Given the description of an element on the screen output the (x, y) to click on. 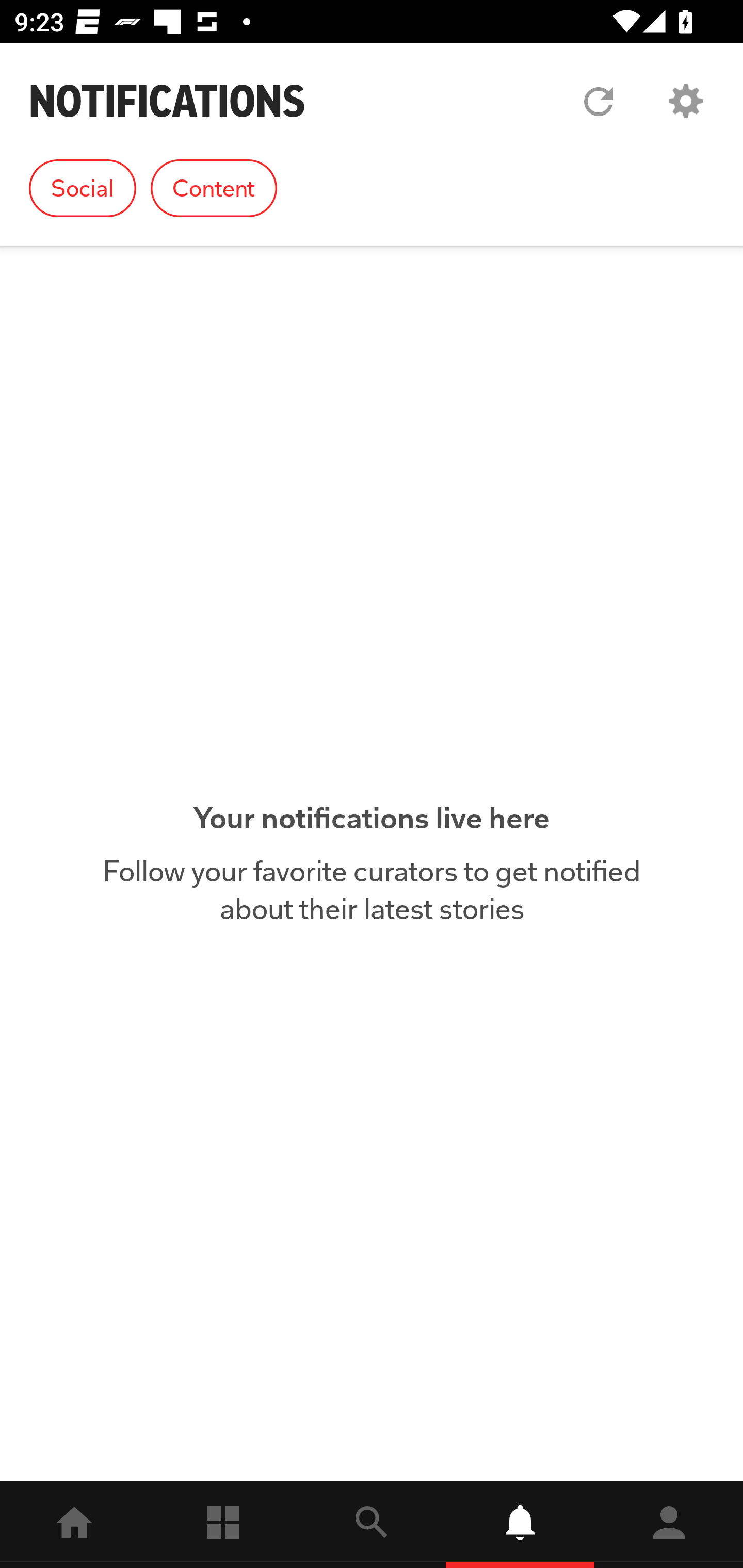
Settings (684, 101)
Social (81, 188)
Content (213, 188)
home (74, 1524)
Following (222, 1524)
explore (371, 1524)
Notifications (519, 1524)
Profile (668, 1524)
